Given the description of an element on the screen output the (x, y) to click on. 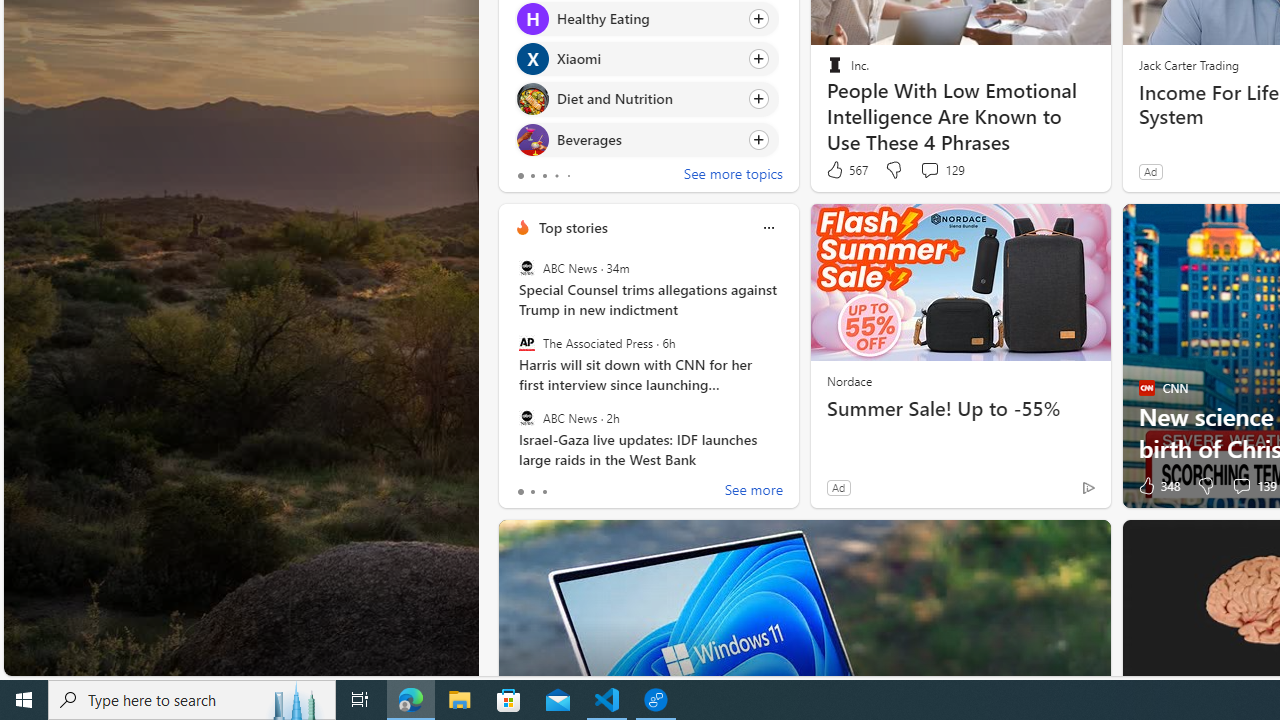
Jack Carter Trading (1188, 64)
Diet and Nutrition (532, 98)
